Given the description of an element on the screen output the (x, y) to click on. 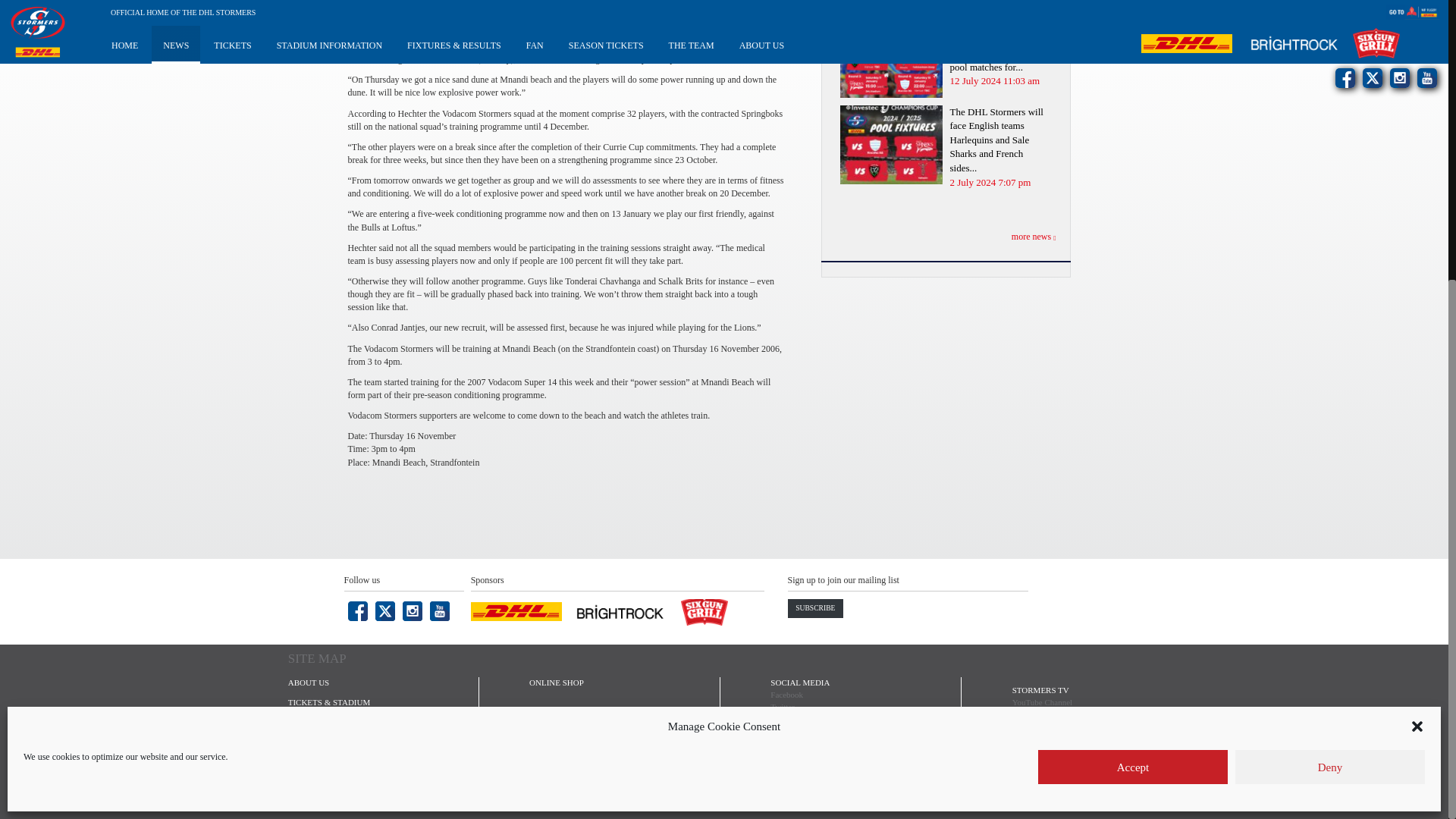
Deny (1329, 342)
Accept (1132, 342)
